Given the description of an element on the screen output the (x, y) to click on. 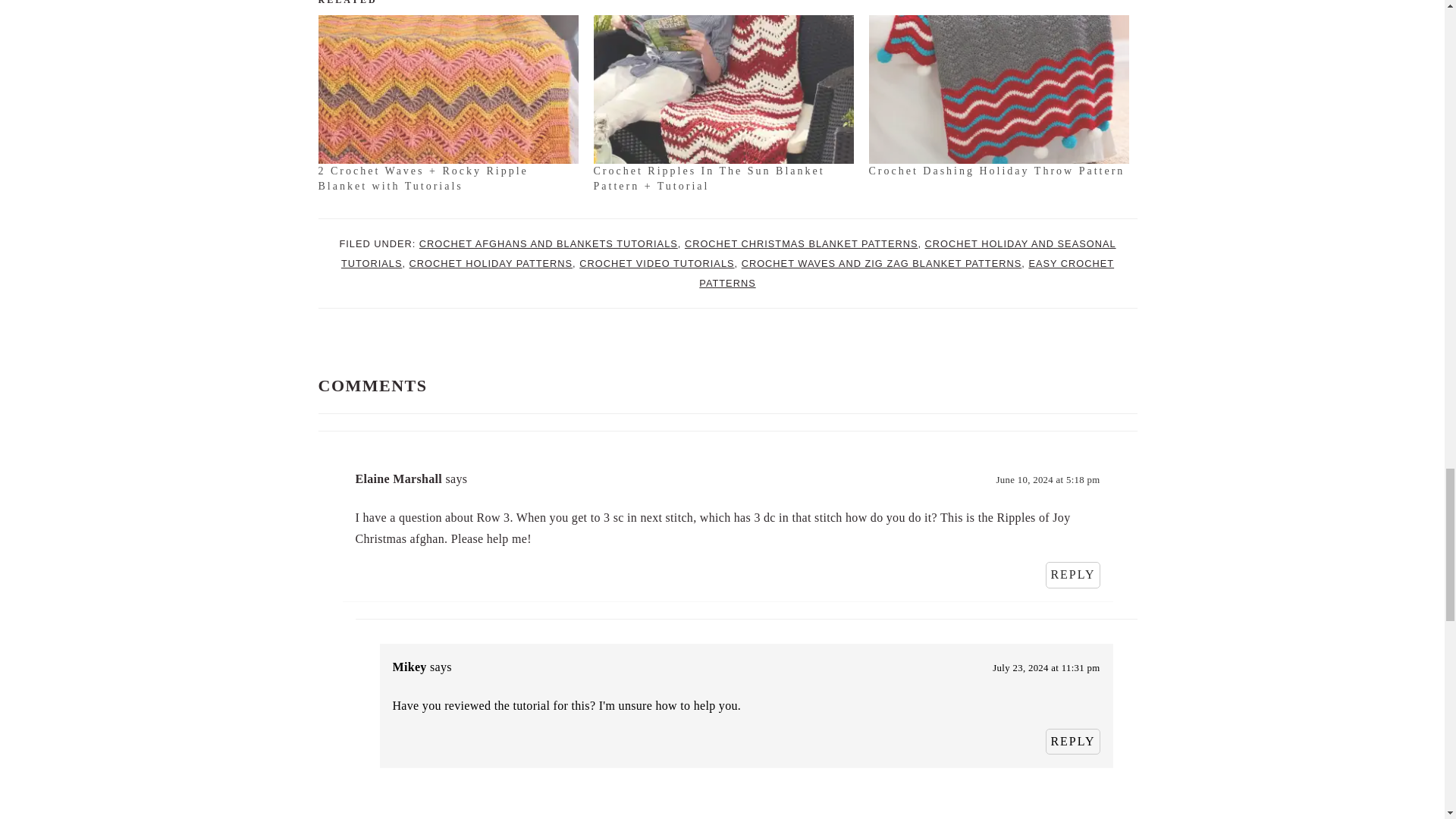
CROCHET WAVES AND ZIG ZAG BLANKET PATTERNS (881, 263)
EASY CROCHET PATTERNS (905, 273)
Crochet Dashing Holiday Throw Pattern (997, 170)
CROCHET HOLIDAY PATTERNS (491, 263)
Crochet Dashing Holiday Throw Pattern (997, 170)
CROCHET HOLIDAY AND SEASONAL TUTORIALS (728, 253)
CROCHET VIDEO TUTORIALS (656, 263)
CROCHET CHRISTMAS BLANKET PATTERNS (801, 243)
REPLY (1072, 574)
Crochet Dashing Holiday Throw Pattern (999, 89)
